Given the description of an element on the screen output the (x, y) to click on. 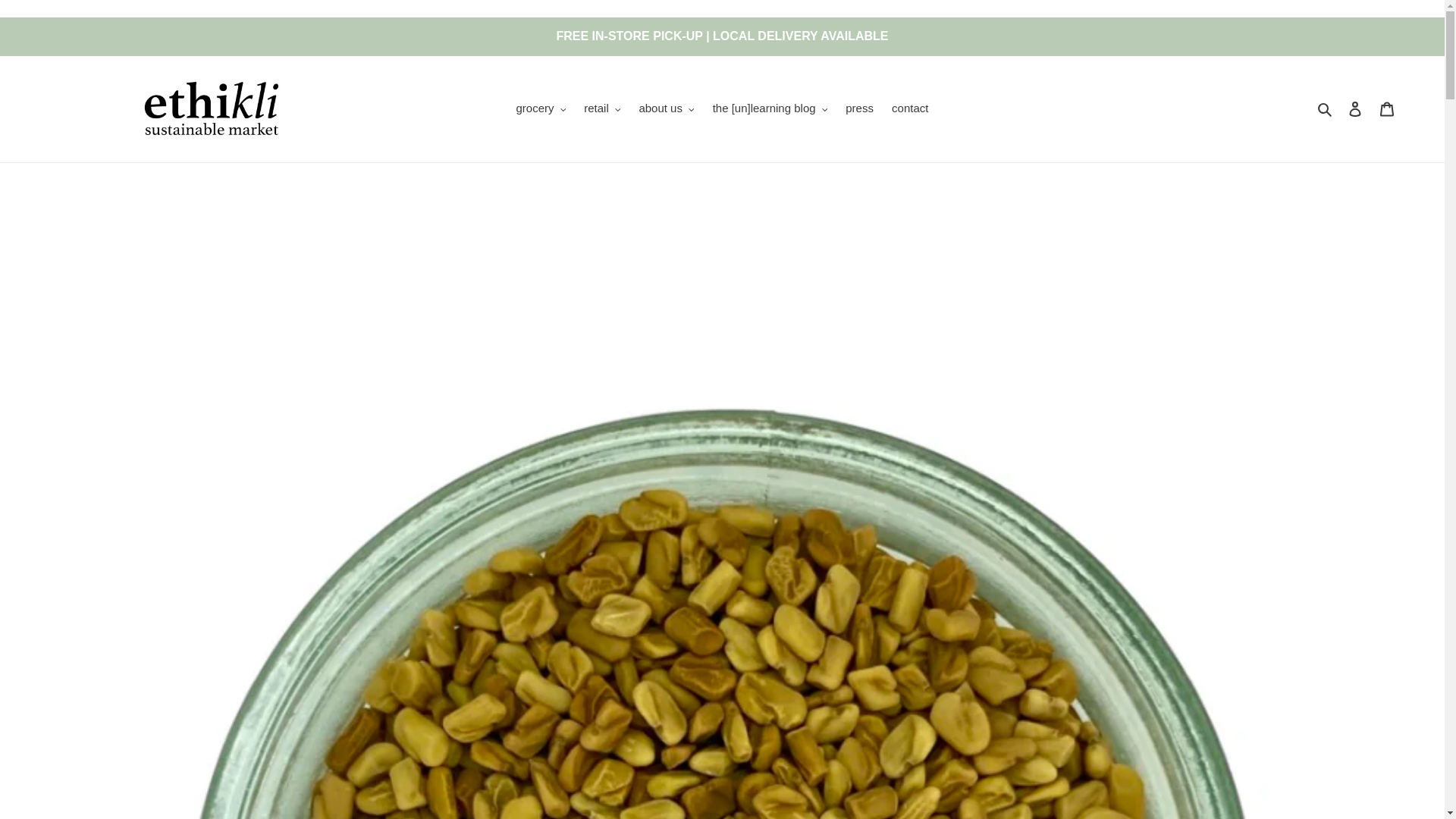
retail (601, 108)
grocery (540, 108)
